Given the description of an element on the screen output the (x, y) to click on. 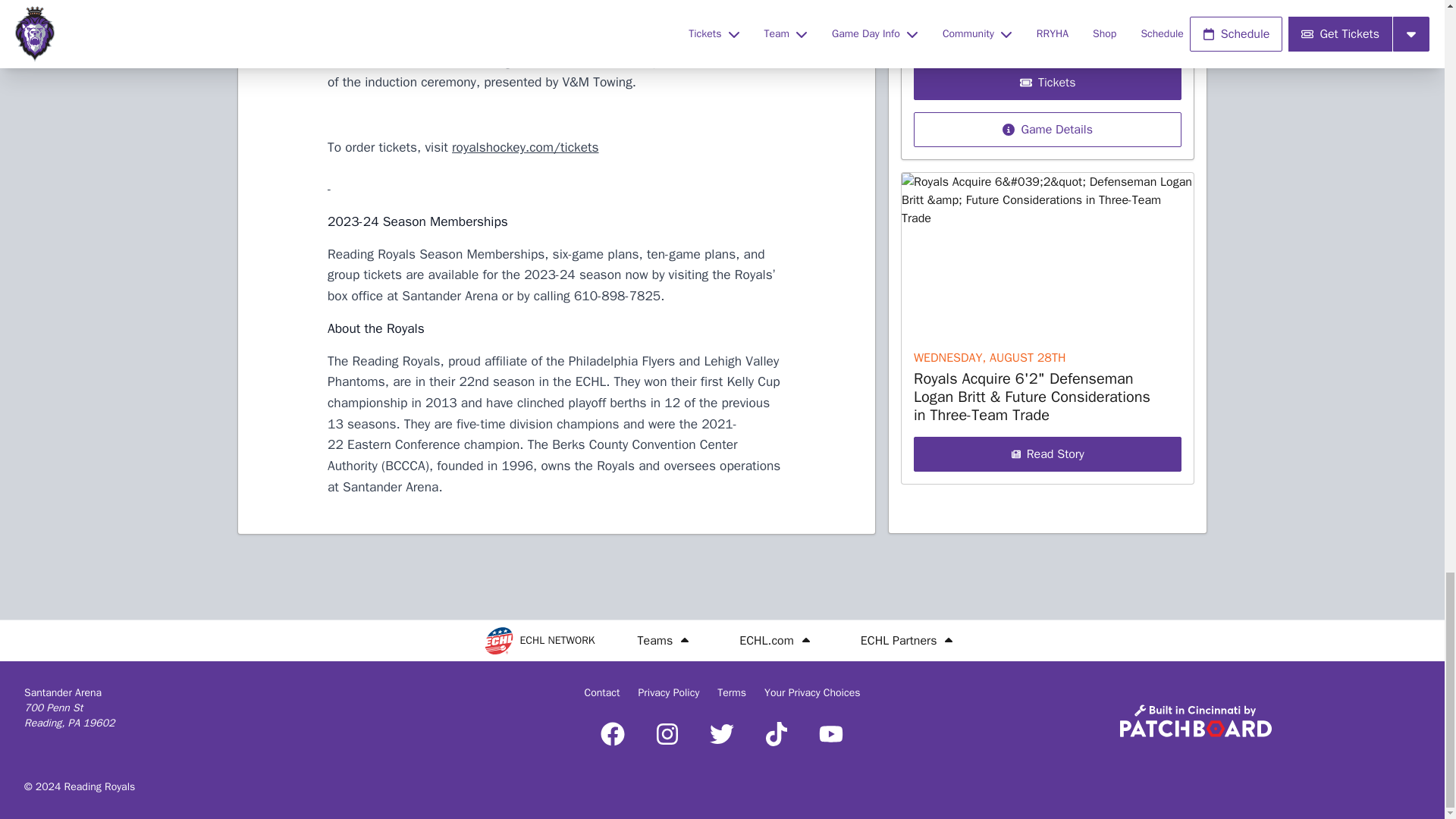
YouTube (830, 733)
TikTok (776, 733)
Instagram (667, 733)
Built in Cincinnati by Patchboard (1195, 720)
Facebook (612, 733)
Twitter (721, 733)
